Given the description of an element on the screen output the (x, y) to click on. 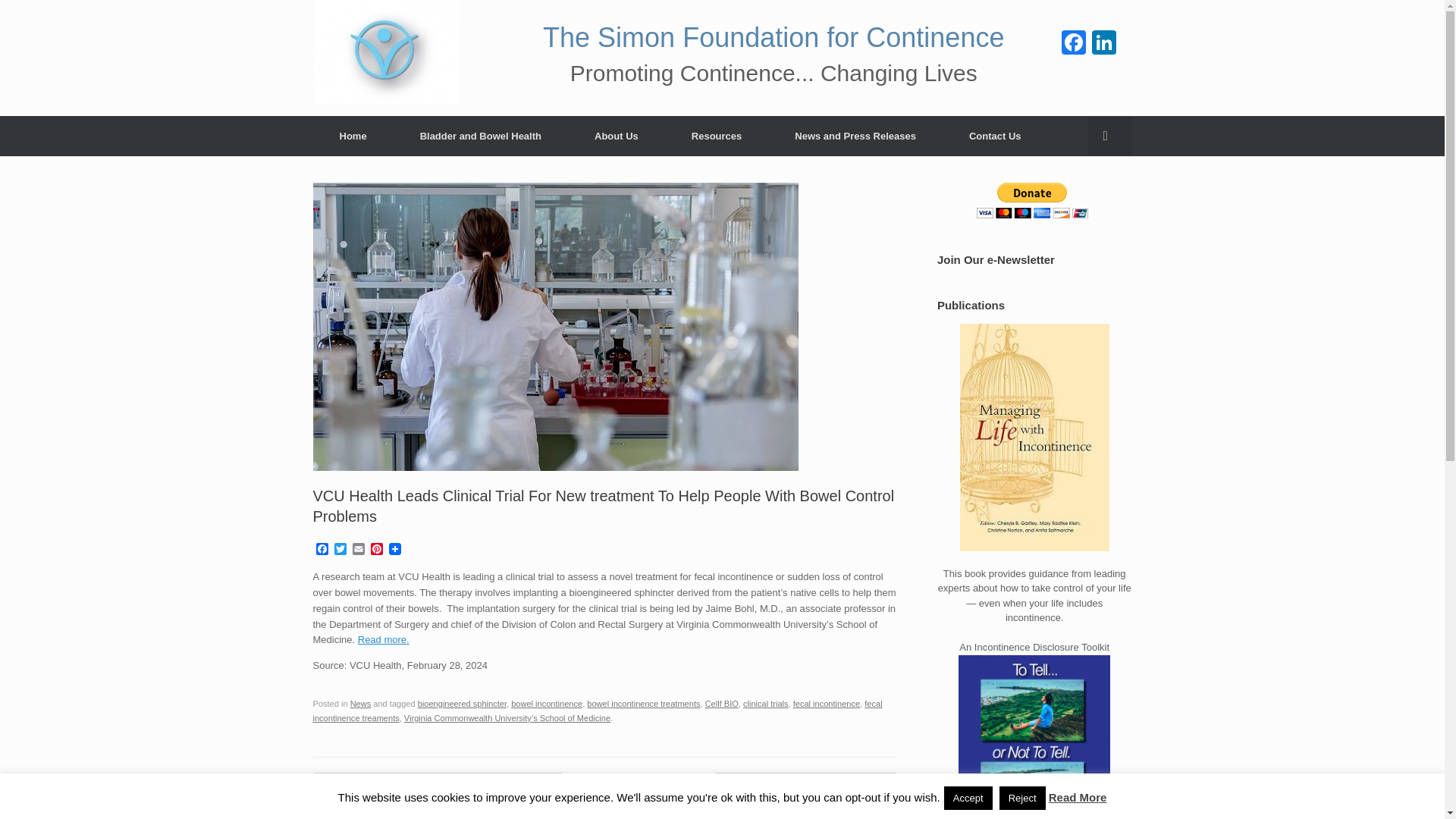
Pinterest (375, 549)
To Tell or Not To Tell - An Incontinence Disclosure Toolkit (1033, 737)
Facebook (321, 549)
Twitter (339, 549)
Twitter (339, 549)
Contact Us (995, 135)
logo color (385, 52)
News and Press Releases (855, 135)
About Us (616, 135)
Resources (716, 135)
